Given the description of an element on the screen output the (x, y) to click on. 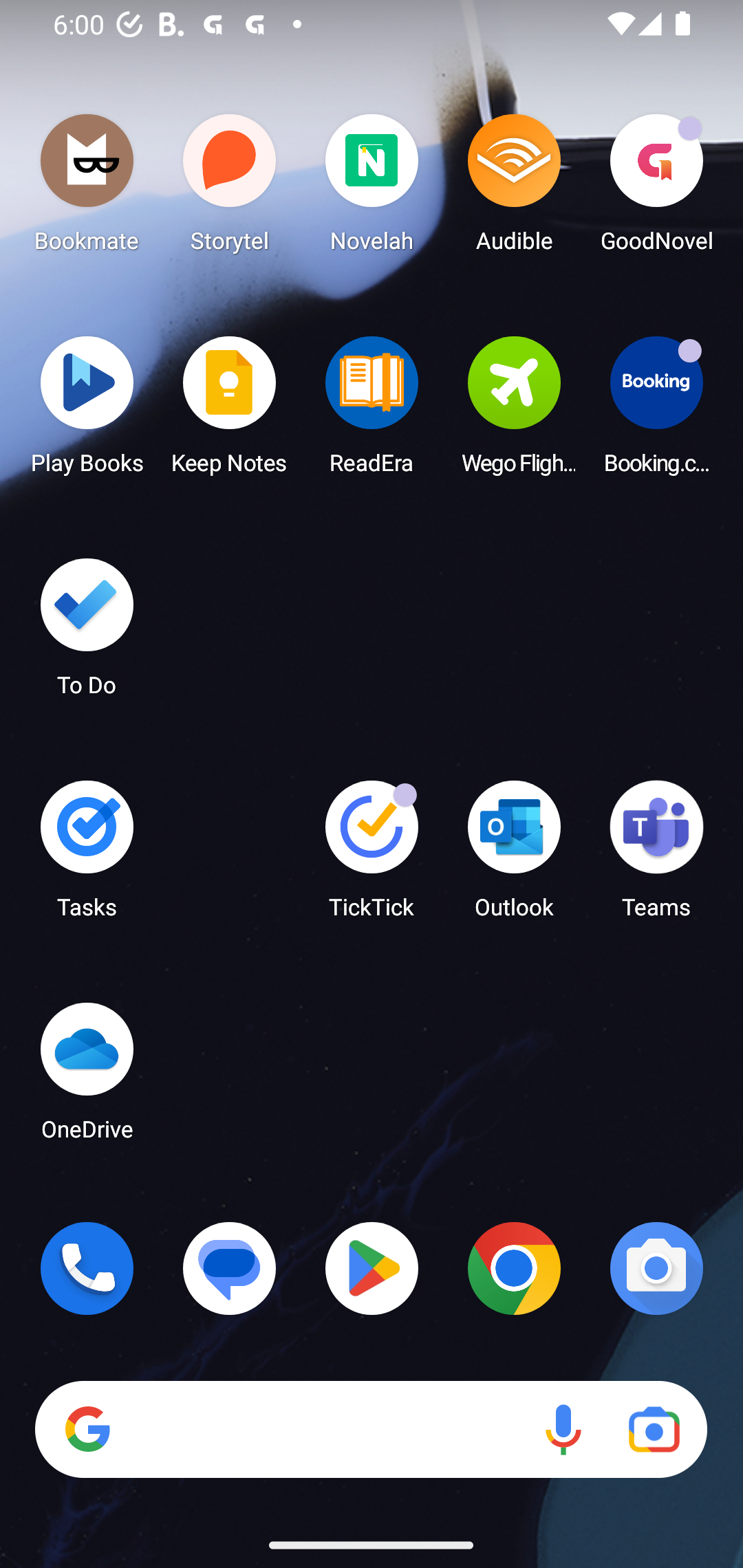
Bookmate (86, 188)
Storytel (229, 188)
Novelah (371, 188)
Audible (513, 188)
GoodNovel GoodNovel has 19 notifications (656, 188)
Play Books (86, 410)
Keep Notes (229, 410)
ReadEra (371, 410)
Wego Flights & Hotels (513, 410)
Booking.com Booking.com has 1 notification (656, 410)
To Do (86, 633)
Tasks (86, 854)
TickTick TickTick has 3 notifications (371, 854)
Outlook (513, 854)
Teams (656, 854)
OneDrive (86, 1076)
Phone (86, 1268)
Messages (229, 1268)
Play Store (371, 1268)
Chrome (513, 1268)
Camera (656, 1268)
Search Voice search Google Lens (370, 1429)
Voice search (562, 1429)
Google Lens (653, 1429)
